Given the description of an element on the screen output the (x, y) to click on. 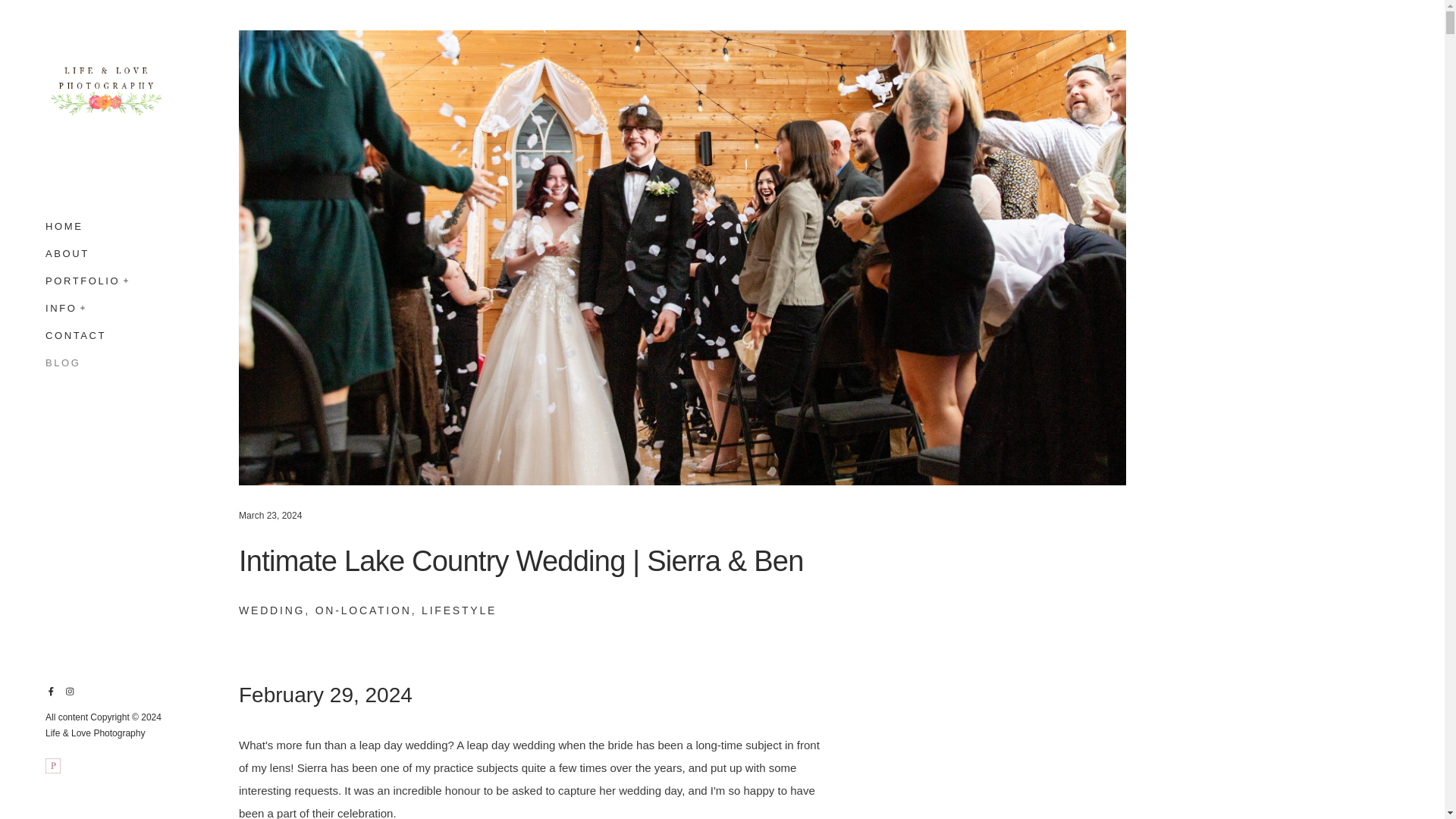
INFO (61, 307)
HOME (63, 229)
ABOUT (66, 253)
WEDDING (271, 610)
BLOG (63, 358)
PORTFOLIO (82, 280)
LIFESTYLE (459, 610)
CONTACT (75, 335)
ON-LOCATION (363, 610)
